Given the description of an element on the screen output the (x, y) to click on. 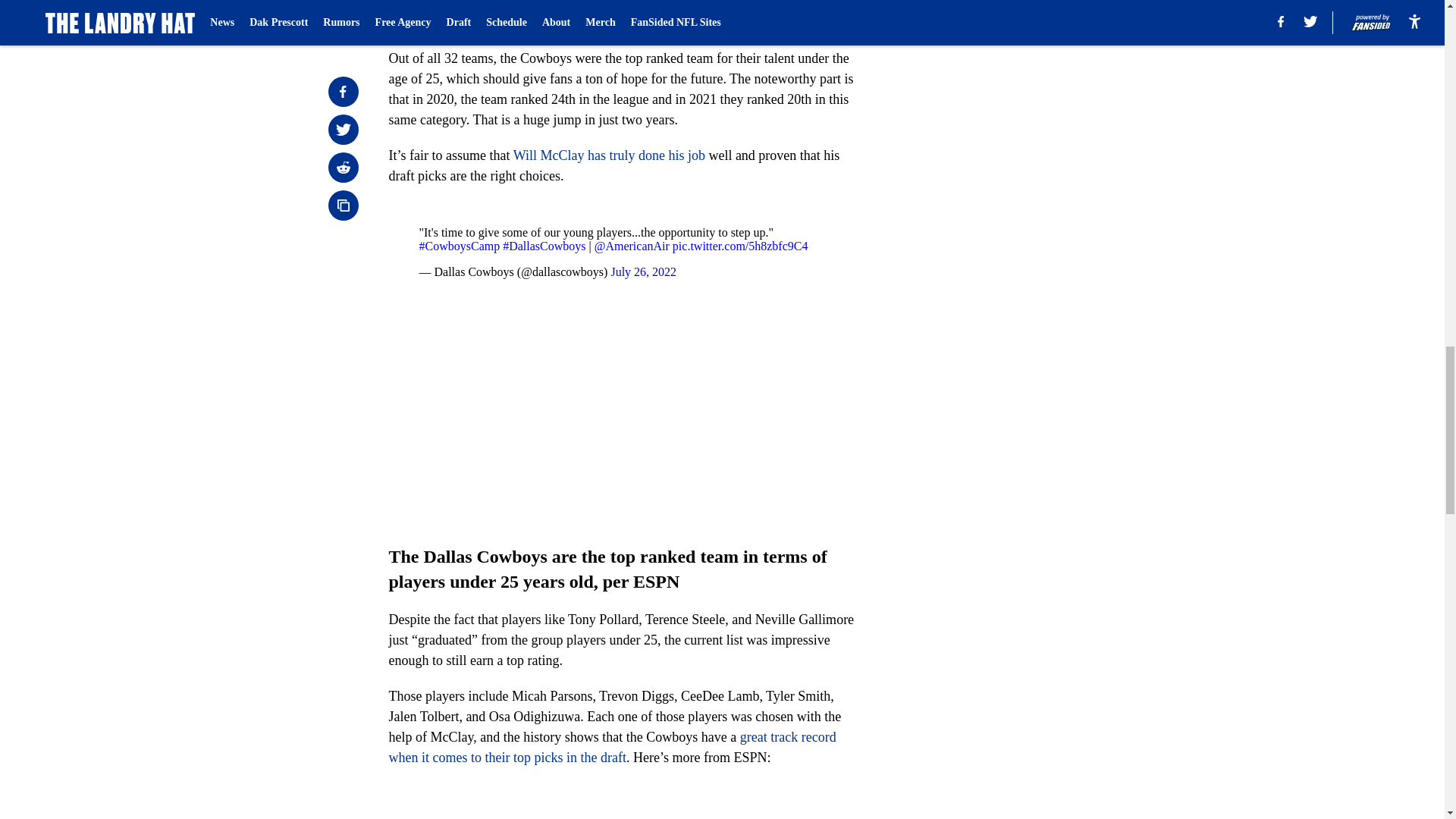
Will McClay has truly done his job (608, 155)
July 26, 2022 (643, 271)
